Given the description of an element on the screen output the (x, y) to click on. 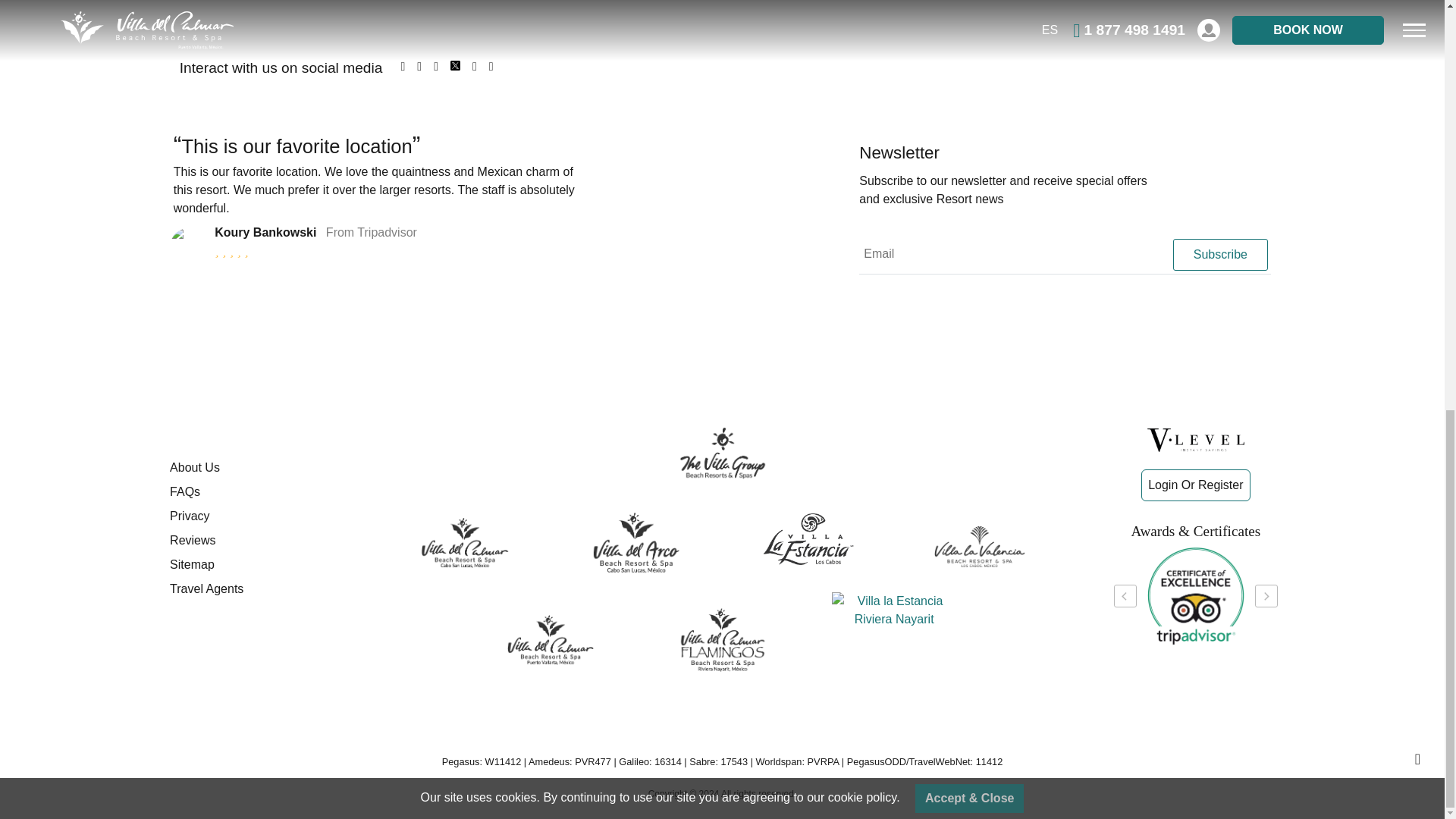
Privacy (261, 516)
Villa del Palmar Puerto Vallarta (550, 639)
Villa La Estancia Los Cabos (807, 539)
Reviews (261, 540)
Villa del Palmar Cabo San Lucas (465, 542)
FAQs (261, 491)
Villagroup Resorts (722, 453)
Subscribe (1220, 255)
Villa del Arco Cabo San Lucas (636, 542)
Sitemap (261, 564)
V-level (1195, 439)
Villa la Estancia Riviera Nayarit (893, 610)
About Us (261, 467)
Villa La Valencia Cabo San Lucas (979, 546)
Villa del Palmar Flamingos Riviera Nayarit (722, 639)
